Given the description of an element on the screen output the (x, y) to click on. 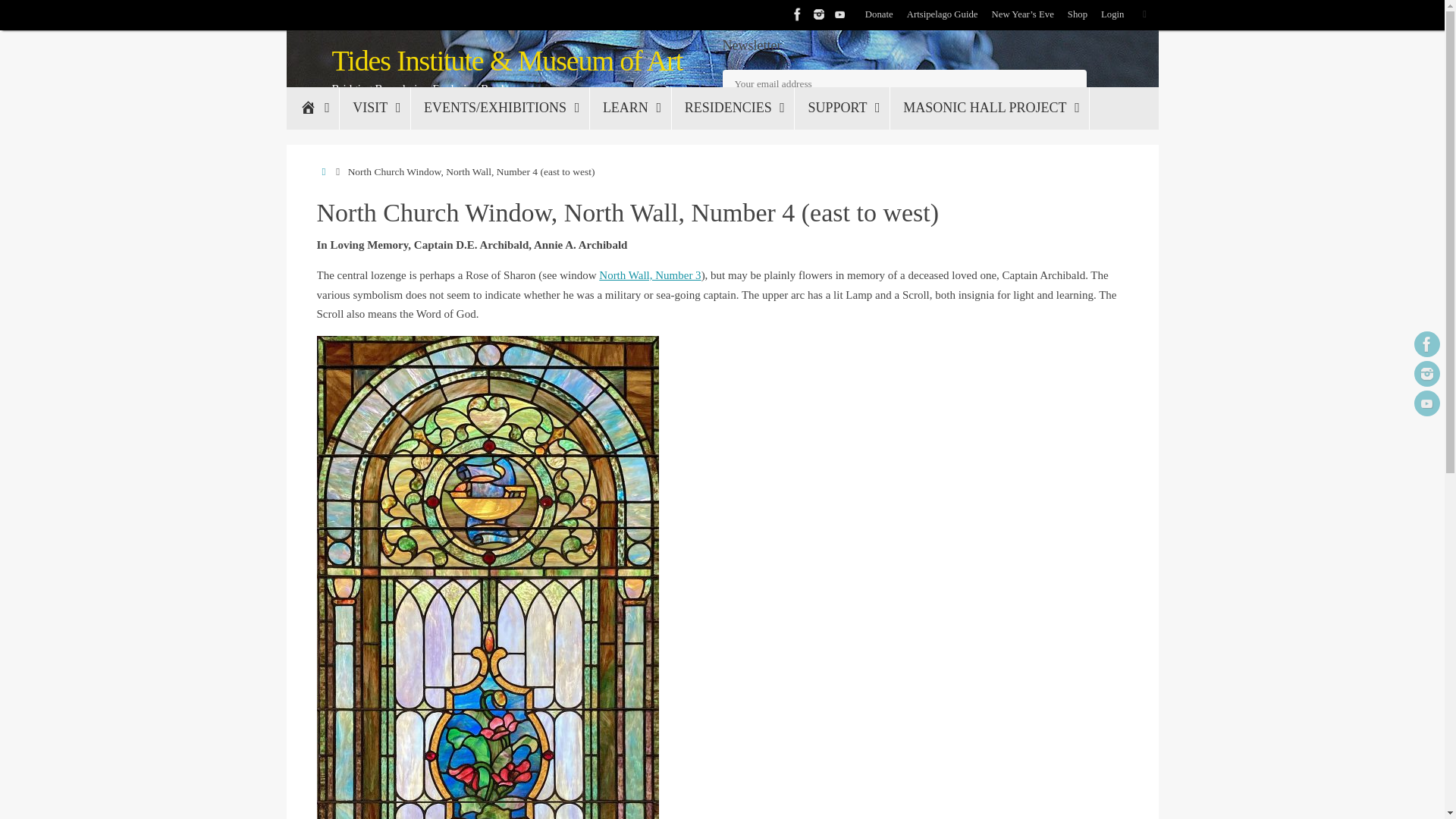
RESIDENCIES (732, 107)
HOME (312, 107)
Donate (878, 15)
Instagram (1426, 373)
Facebook (1426, 344)
Sign Up for Updates (787, 112)
YouTube (1426, 403)
YouTube (839, 14)
Artsipelago Guide (942, 15)
Facebook (797, 14)
VISIT (374, 107)
LEARN (630, 107)
Login (1111, 15)
Instagram (818, 14)
